Given the description of an element on the screen output the (x, y) to click on. 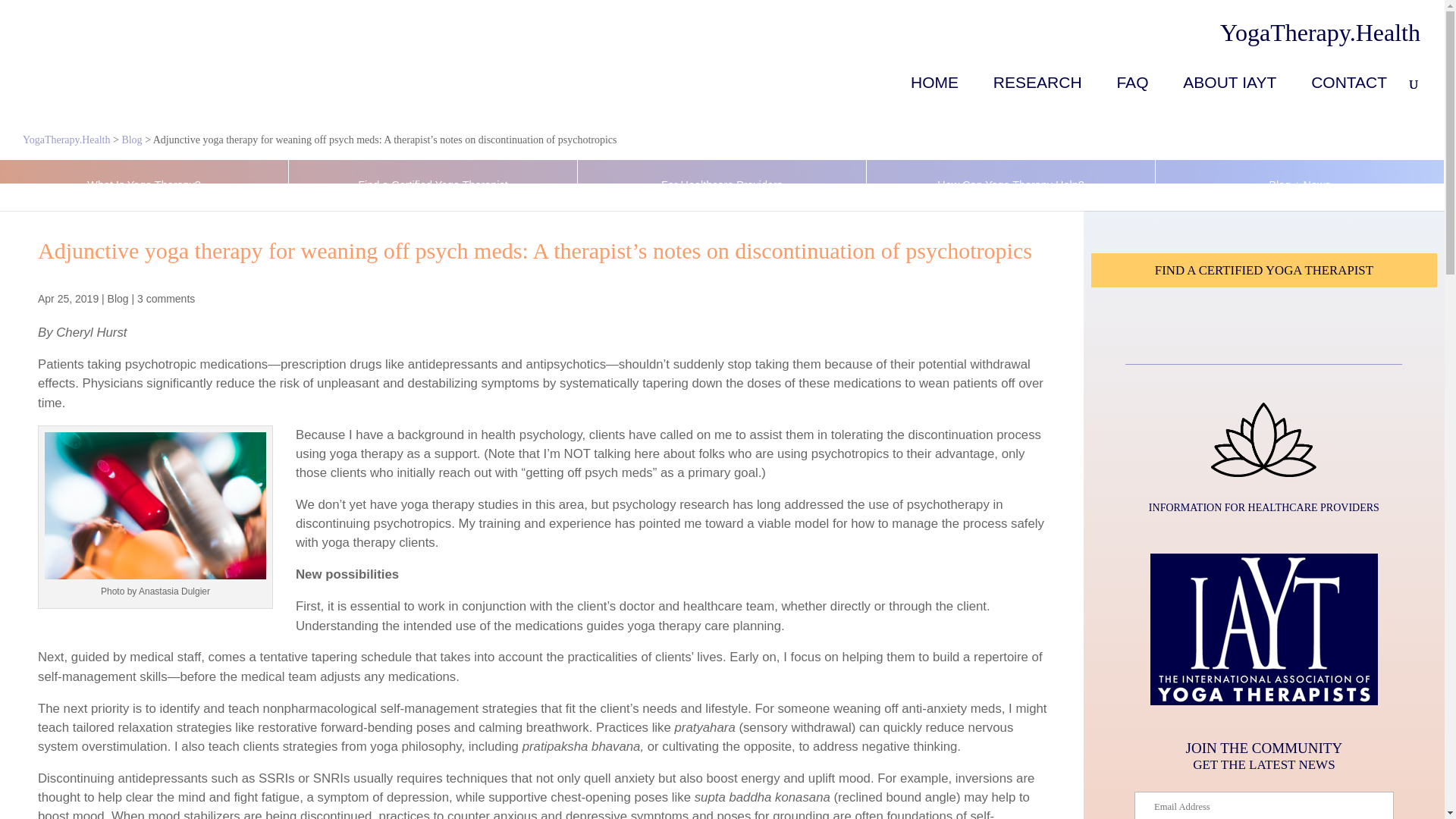
CONTACT (1349, 97)
Find a Certified Yoga Therapist (432, 184)
How Can Yoga Therapy Help? (1010, 184)
RESEARCH (1036, 97)
HOME (934, 97)
Go to YogaTherapy.Health. (66, 139)
What Is Yoga Therapy? (144, 184)
YogaTherapy.Health (1320, 31)
Blog (118, 298)
Blog (130, 139)
